Given the description of an element on the screen output the (x, y) to click on. 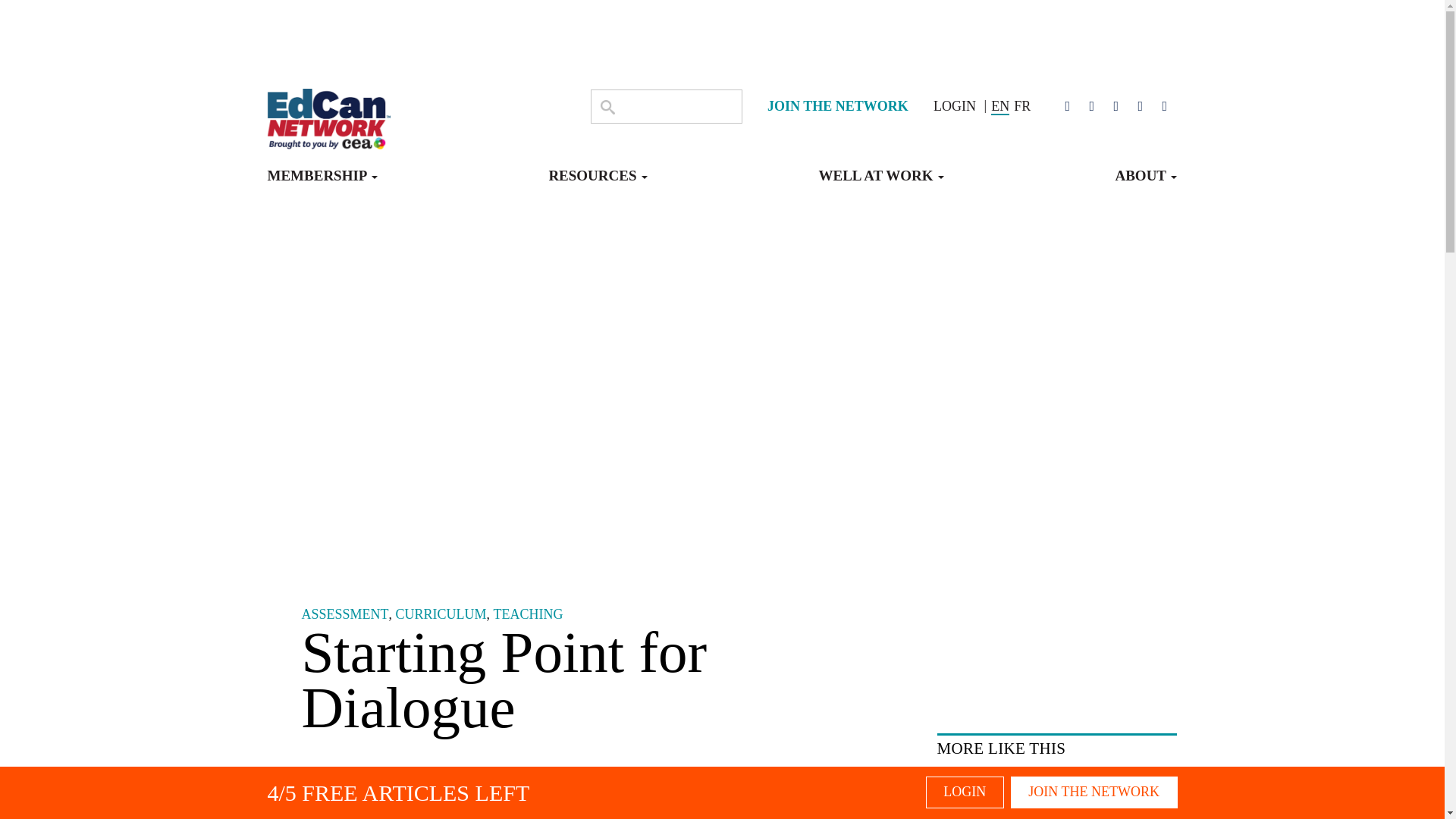
WELL AT WORK (881, 181)
Membership (321, 181)
MEMBERSHIP (321, 181)
About (1145, 181)
RESOURCES (597, 181)
Magazine (344, 145)
JOIN THE NETWORK (837, 105)
ABOUT (1145, 181)
Previous Article (1035, 145)
FR (1021, 105)
